Given the description of an element on the screen output the (x, y) to click on. 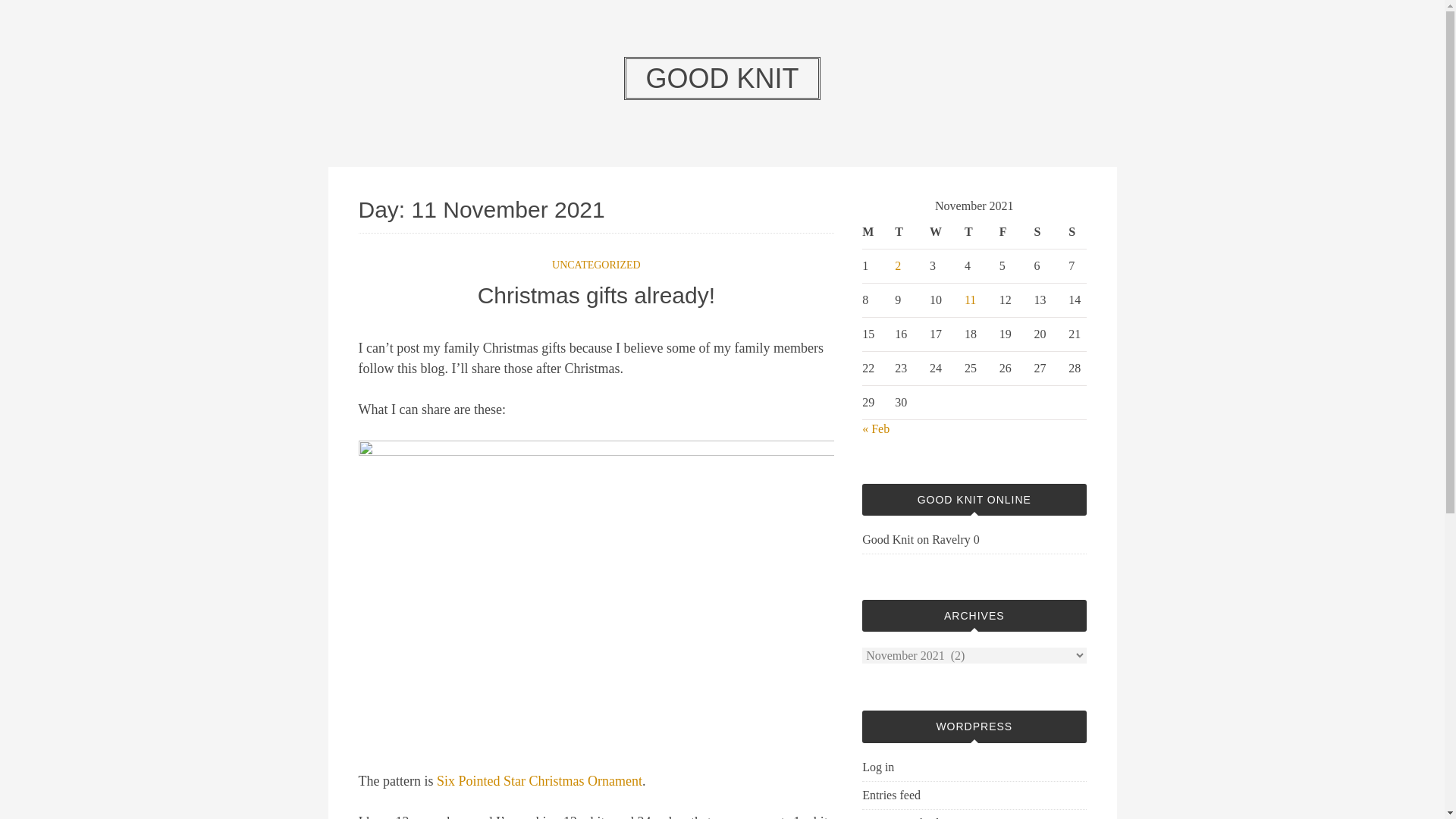
Thursday (973, 232)
Log in (877, 766)
Friday (1008, 232)
Wednesday (938, 232)
Entries feed (890, 794)
GOOD KNIT (721, 77)
UNCATEGORIZED (595, 265)
Good Knit on Ravelry (916, 539)
Tuesday (903, 232)
Six Pointed Star Christmas Ornament (539, 780)
Comments feed (900, 817)
Christmas gifts already! (595, 294)
Saturday (1043, 232)
